Given the description of an element on the screen output the (x, y) to click on. 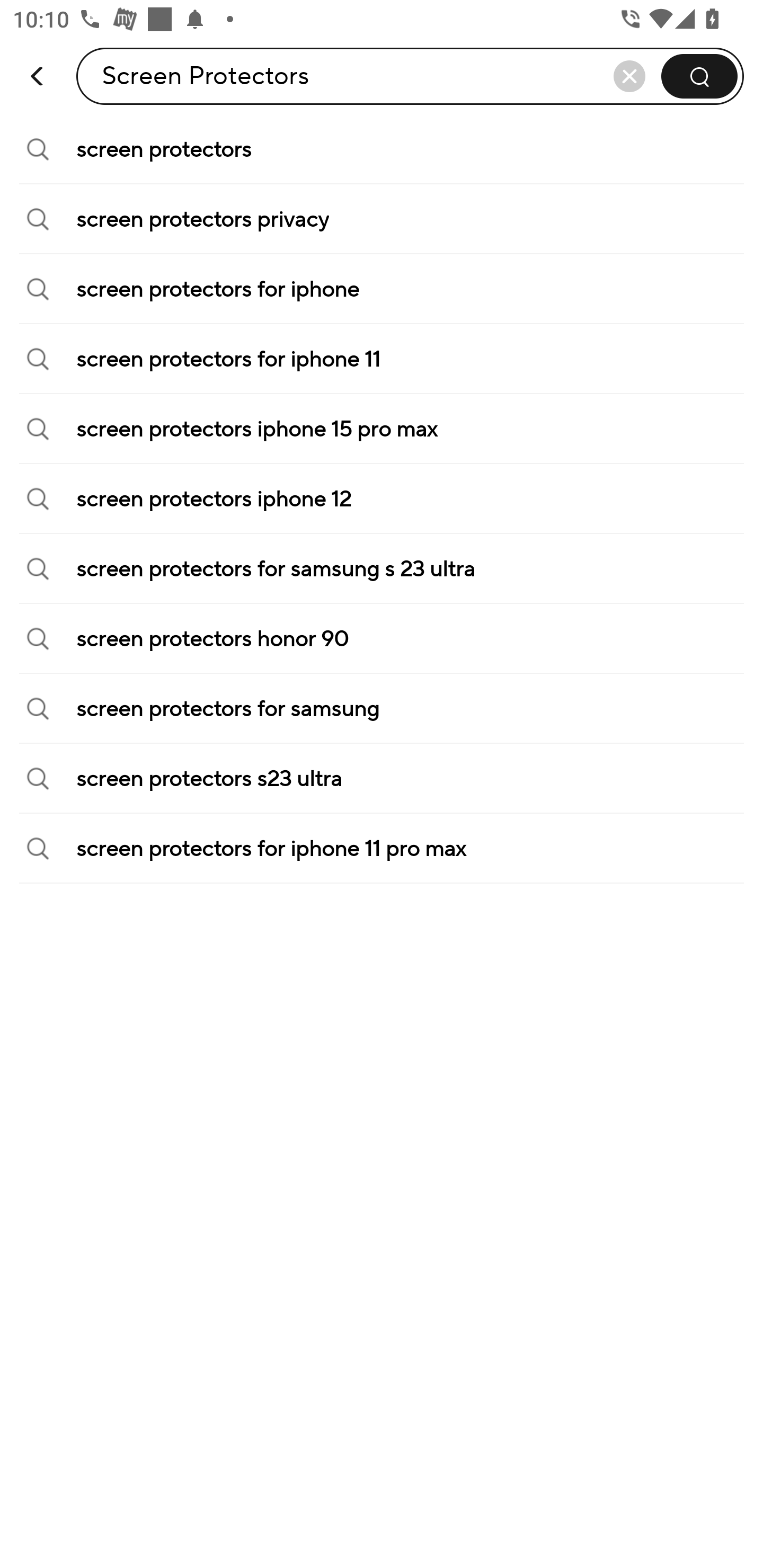
Screen Protectors I'm shopping for… (409, 76)
Screen Protectors I'm shopping for… (205, 76)
screen protectors (381, 149)
screen protectors privacy (381, 219)
screen protectors for iphone (381, 289)
screen protectors for iphone 11 (381, 358)
screen protectors iphone 15 pro max (381, 428)
screen protectors iphone 12 (381, 499)
screen protectors for samsung s 23 ultra (381, 568)
screen protectors honor 90 (381, 638)
screen protectors for samsung (381, 708)
screen protectors s23 ultra (381, 778)
screen protectors for iphone 11 pro max (381, 848)
